Given the description of an element on the screen output the (x, y) to click on. 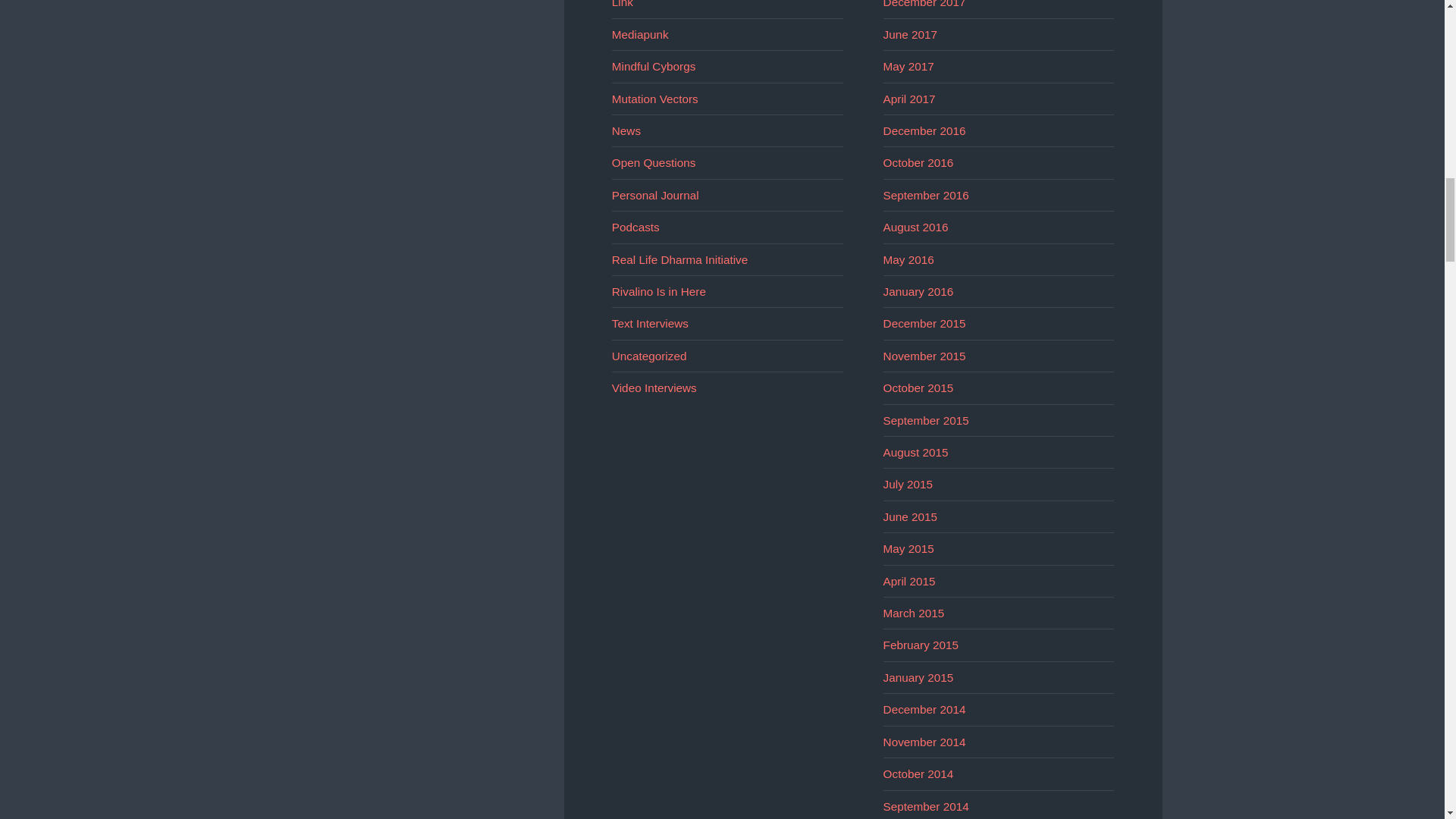
Mediapunk (639, 33)
Podcasts (635, 226)
Rivalino Is in Here (658, 291)
Text Interviews (649, 323)
Mindful Cyborgs (653, 65)
Real Life Dharma Initiative (679, 259)
Personal Journal (654, 195)
News (625, 130)
Link (622, 4)
Open Questions (653, 162)
